Given the description of an element on the screen output the (x, y) to click on. 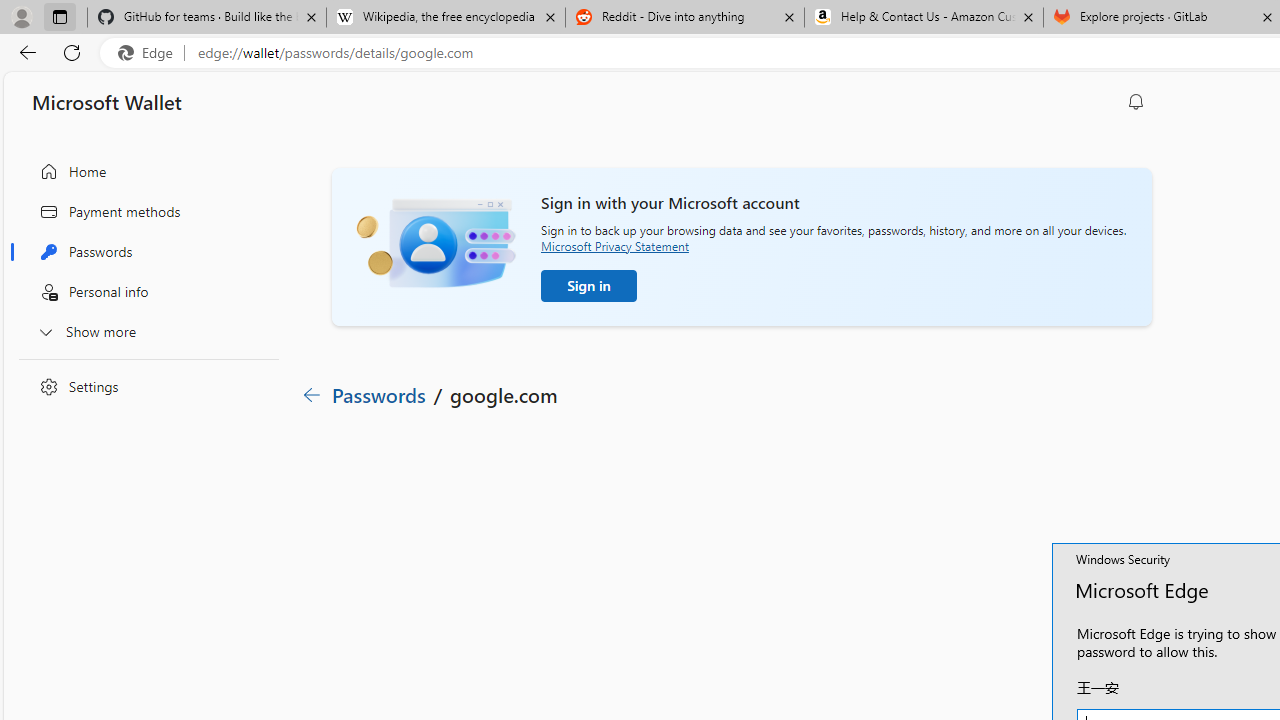
Reddit - Dive into anything (684, 17)
Memberships - 0 available (688, 573)
Help & Contact Us - Amazon Customer Service (924, 17)
Wikipedia, the free encyclopedia (445, 17)
Payment methods - 0 available (437, 573)
